Given the description of an element on the screen output the (x, y) to click on. 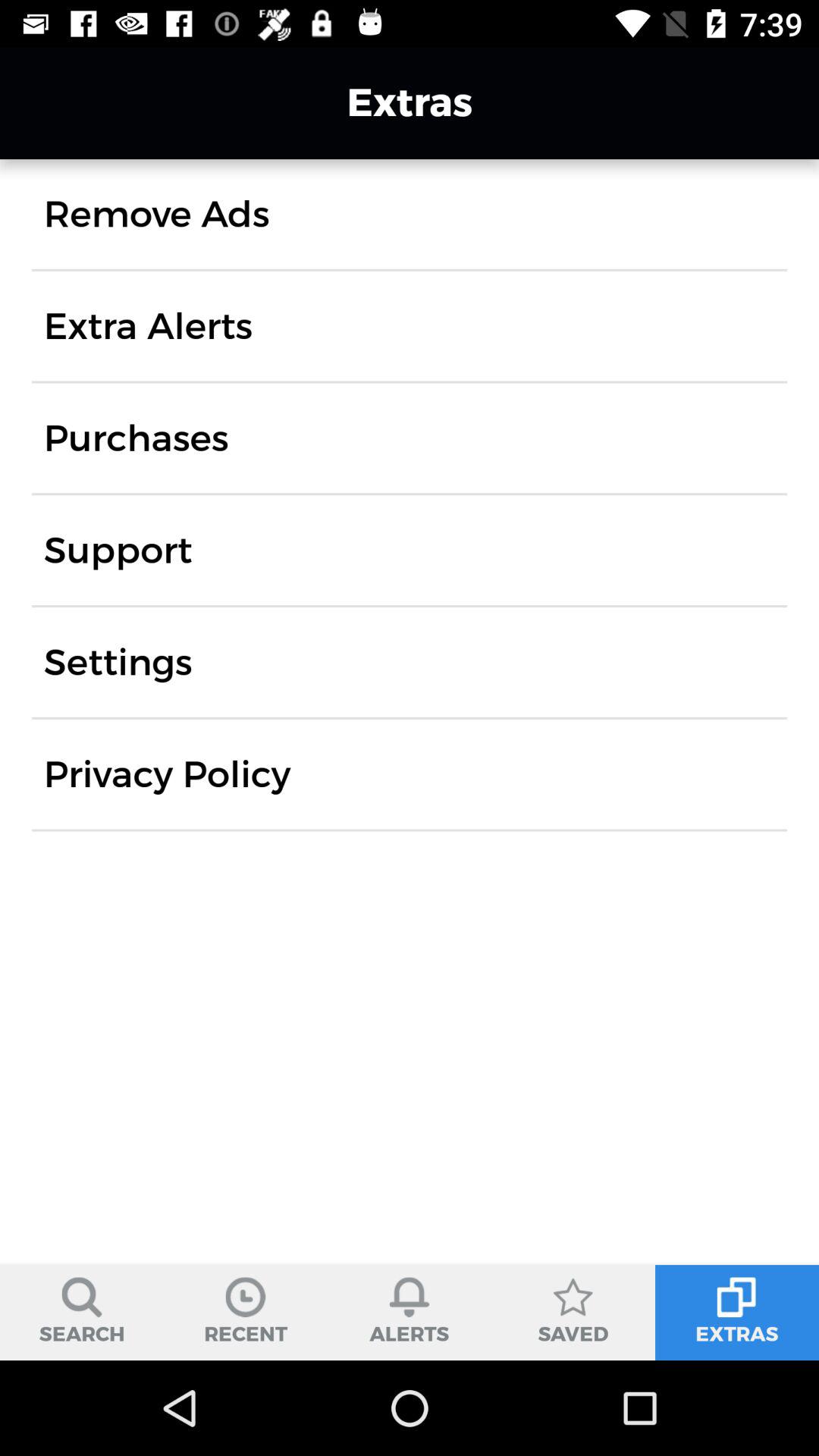
flip until settings (117, 662)
